Given the description of an element on the screen output the (x, y) to click on. 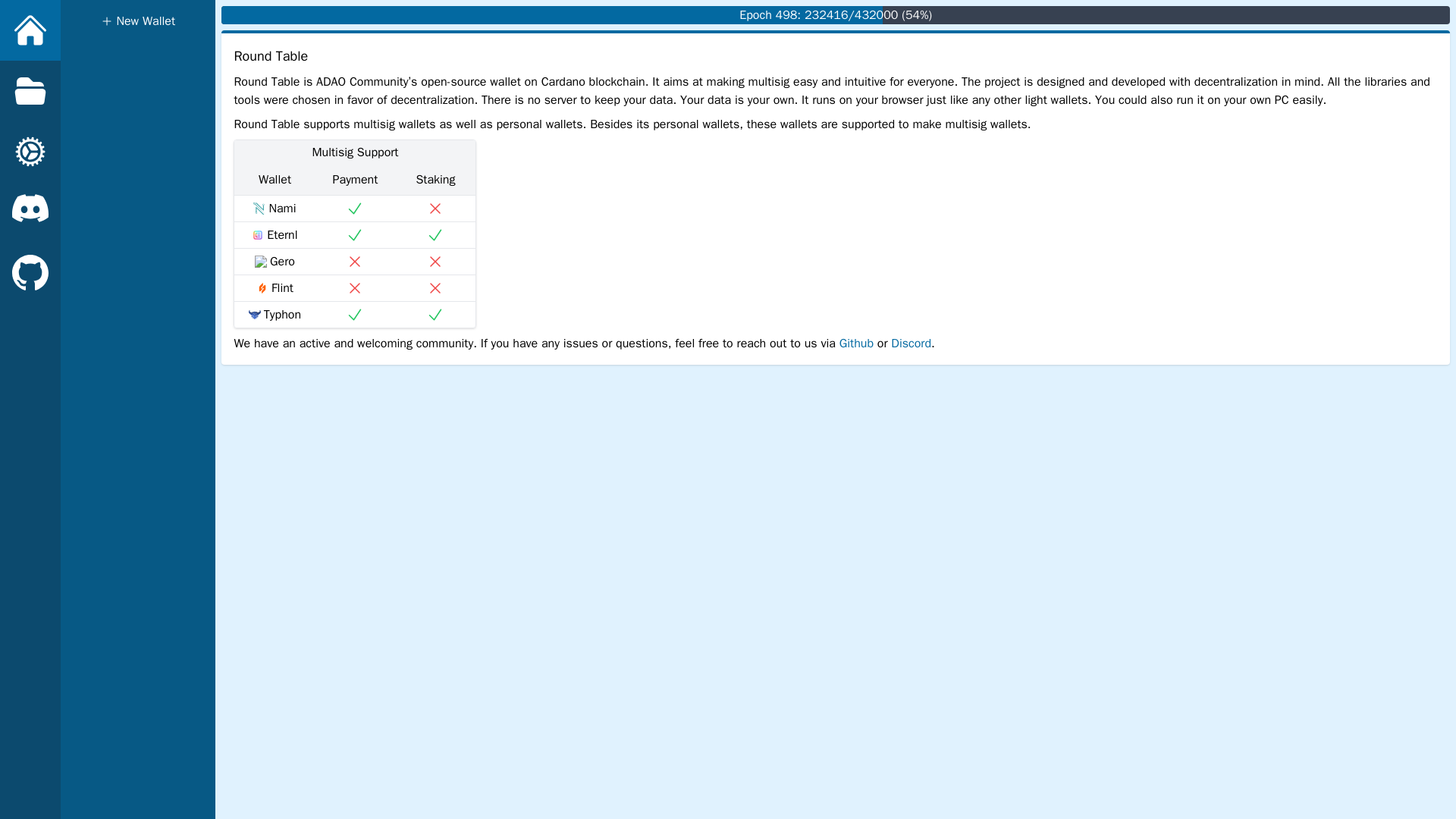
New Wallet (138, 21)
Discord (911, 343)
Github (856, 343)
